Given the description of an element on the screen output the (x, y) to click on. 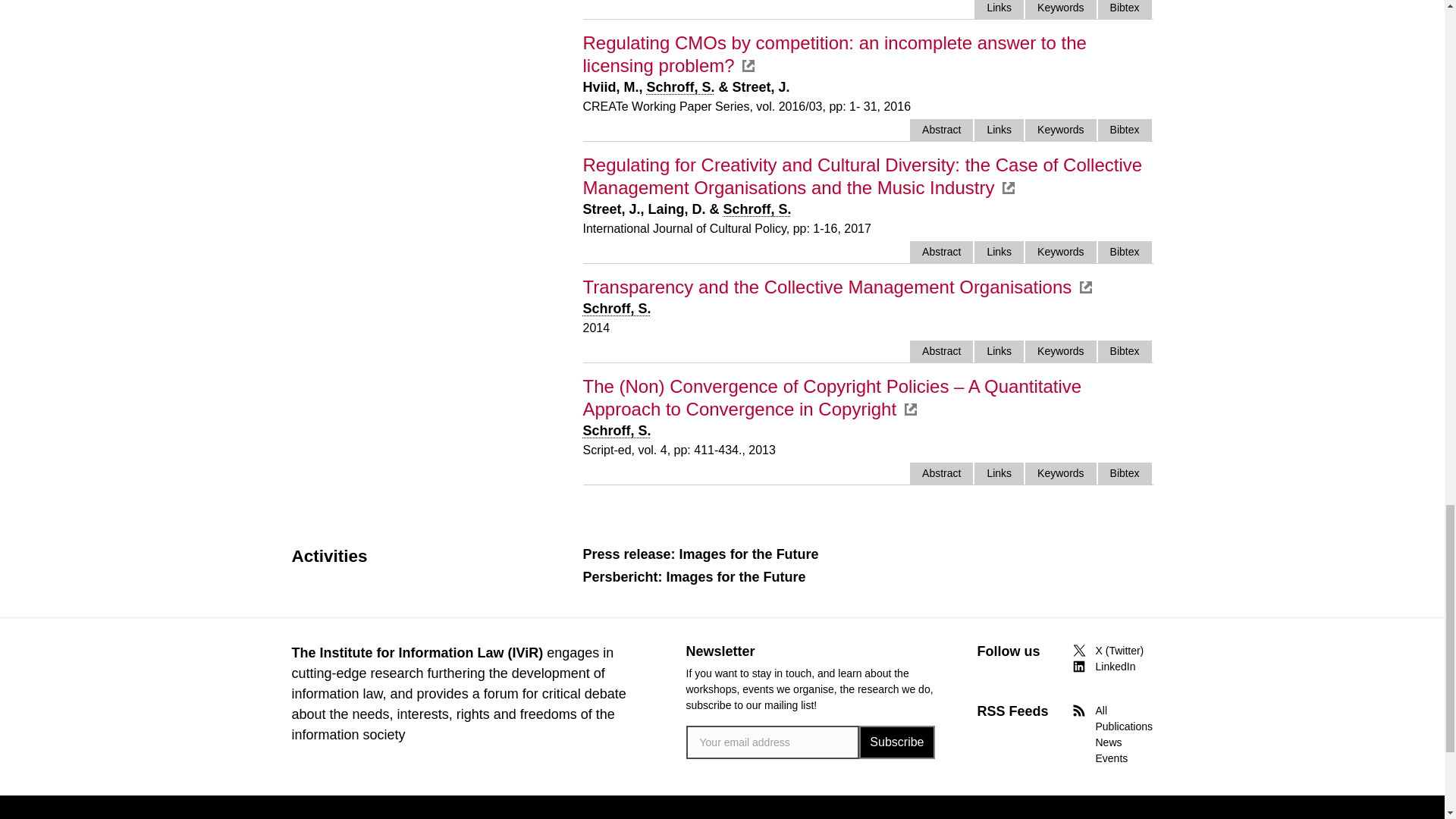
Subscribe (896, 742)
